Given the description of an element on the screen output the (x, y) to click on. 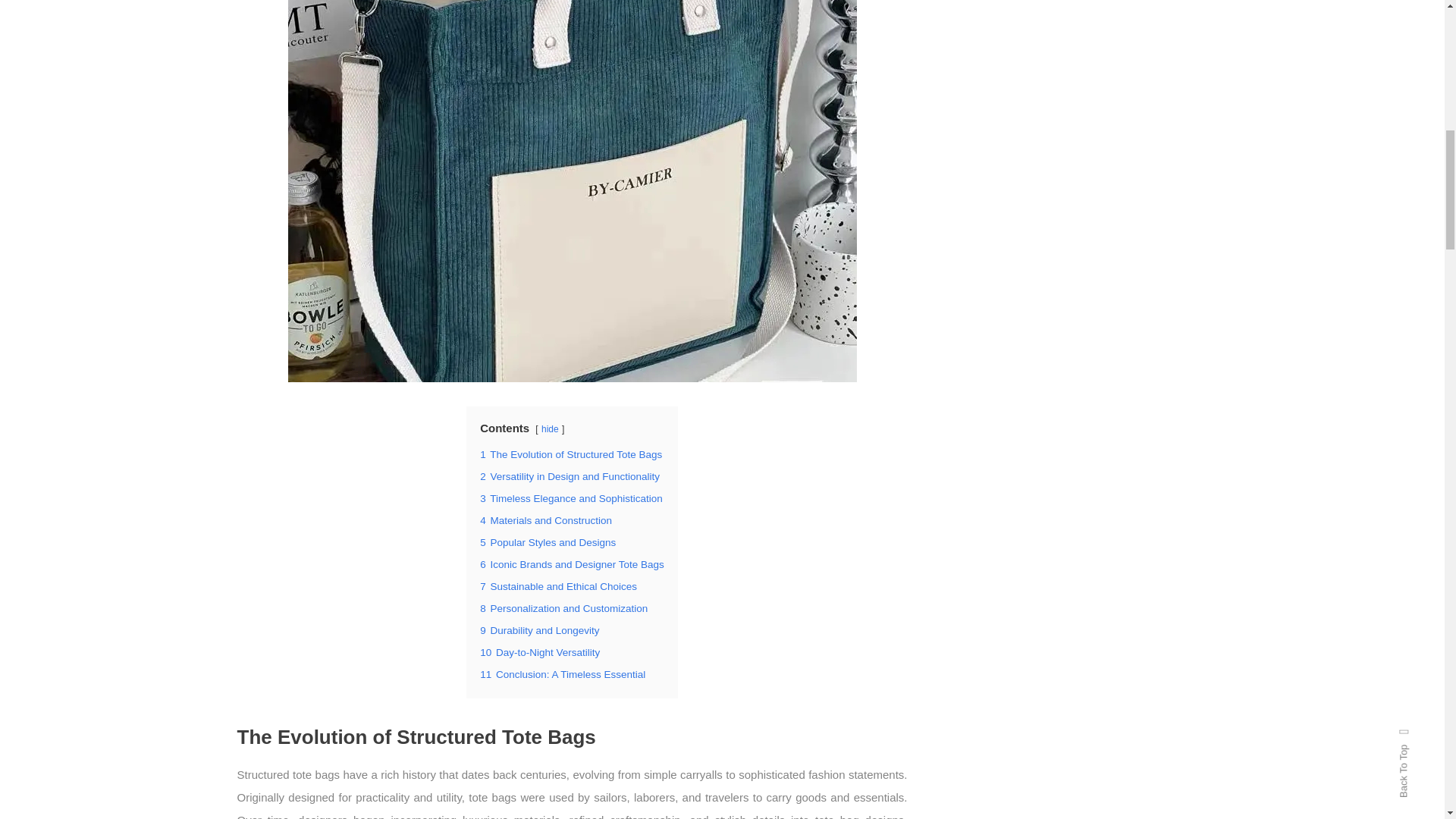
2 Versatility in Design and Functionality (569, 476)
7 Sustainable and Ethical Choices (558, 586)
hide (550, 429)
9 Durability and Longevity (539, 630)
10 Day-to-Night Versatility (539, 652)
1 The Evolution of Structured Tote Bags (571, 454)
5 Popular Styles and Designs (547, 542)
4 Materials and Construction (545, 520)
8 Personalization and Customization (563, 608)
6 Iconic Brands and Designer Tote Bags (571, 564)
3 Timeless Elegance and Sophistication (571, 498)
11 Conclusion: A Timeless Essential (562, 674)
